Given the description of an element on the screen output the (x, y) to click on. 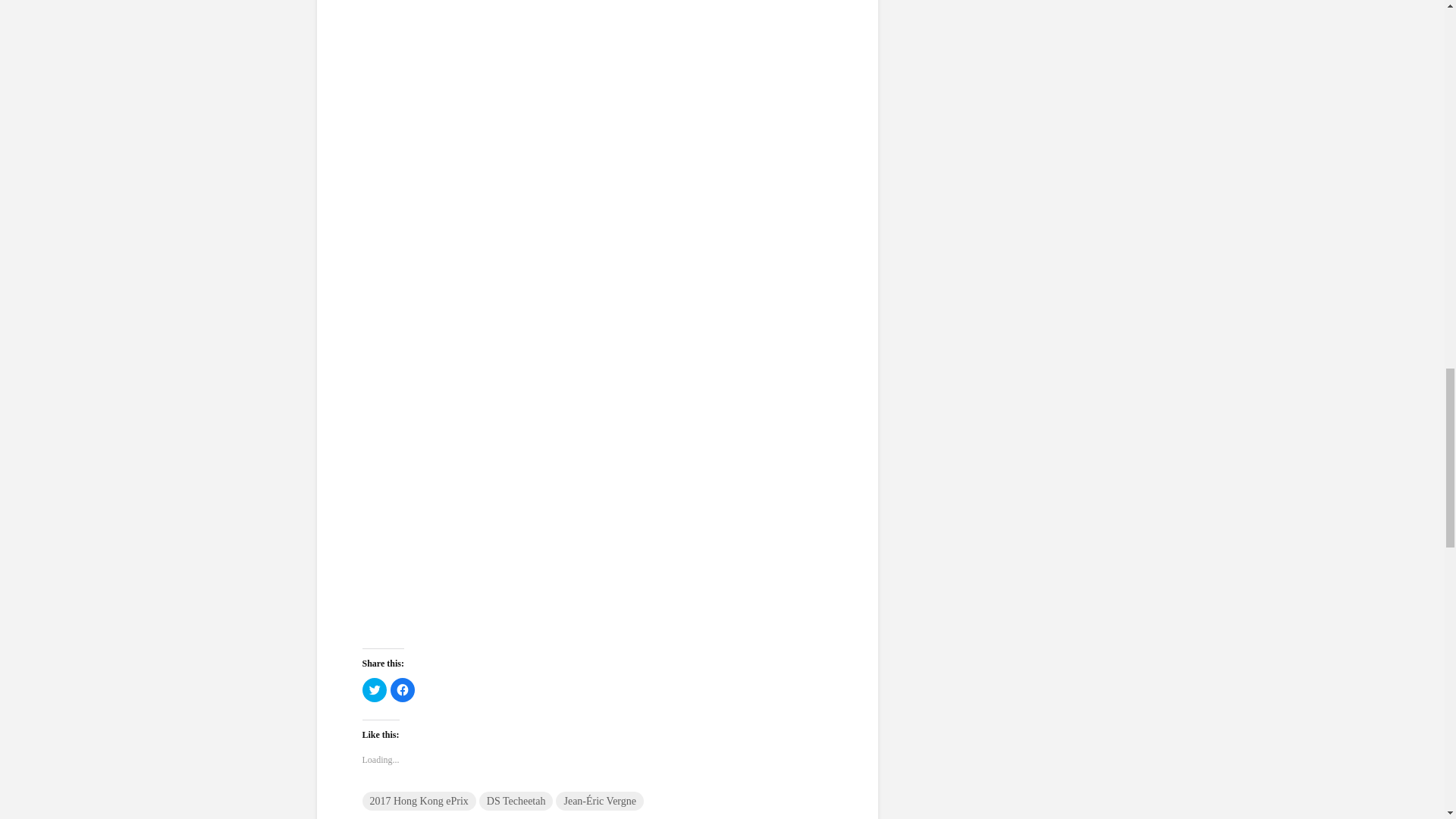
2017 Hong Kong ePrix (419, 800)
Click to share on Facebook (401, 689)
Click to share on Twitter (374, 689)
DS Techeetah (516, 800)
